Given the description of an element on the screen output the (x, y) to click on. 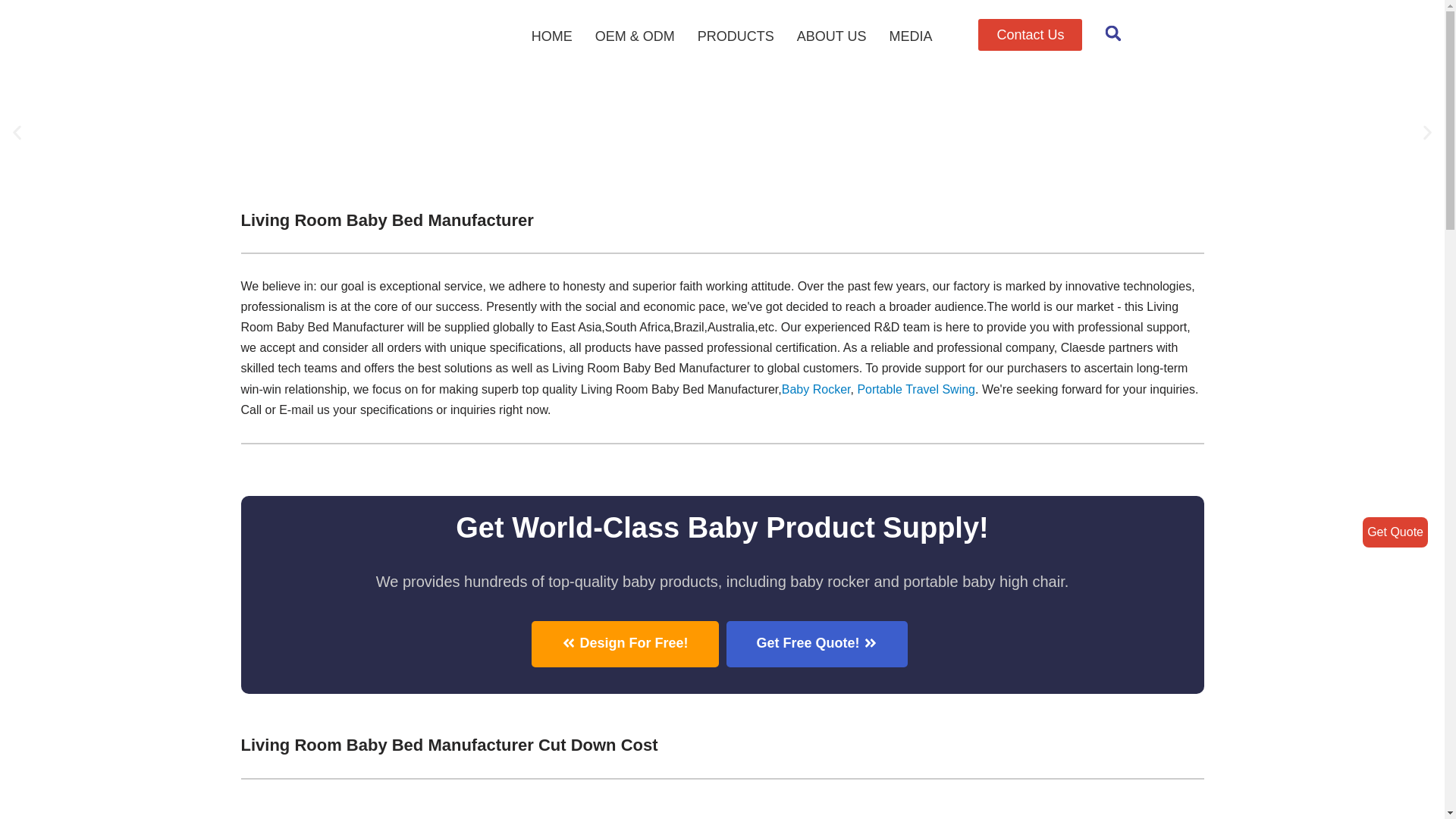
PRODUCTS (735, 36)
HOME (551, 36)
Skip to content (11, 31)
